Given the description of an element on the screen output the (x, y) to click on. 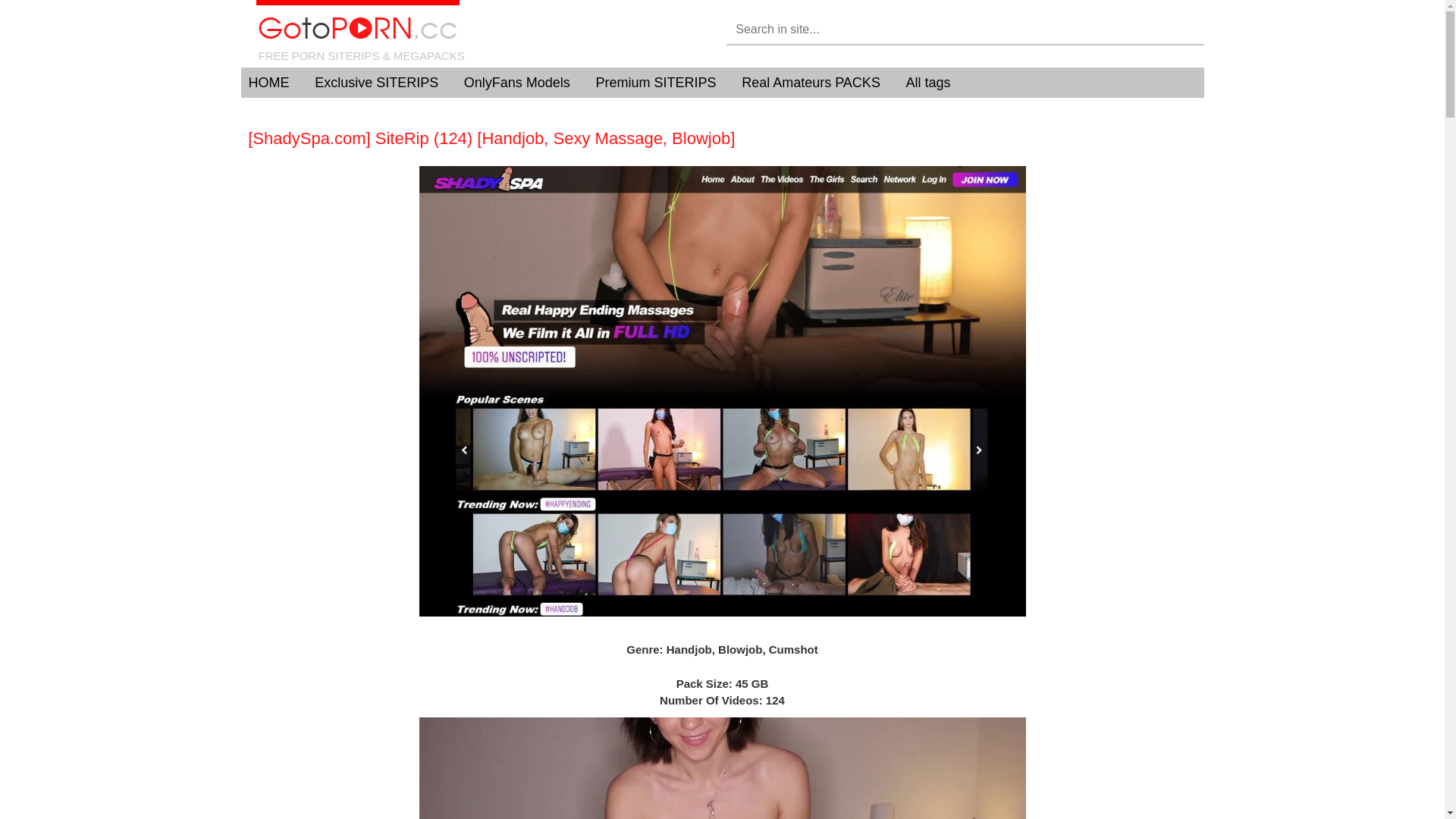
HOME Element type: text (268, 82)
Premium SITERIPS Element type: text (655, 82)
Exclusive SITERIPS Element type: text (376, 82)
FREE PORN SITERIPS & MEGAPACKS Element type: text (479, 33)
Real Amateurs PACKS Element type: text (810, 82)
OnlyFans Models Element type: text (517, 82)
All tags Element type: text (928, 82)
